Given the description of an element on the screen output the (x, y) to click on. 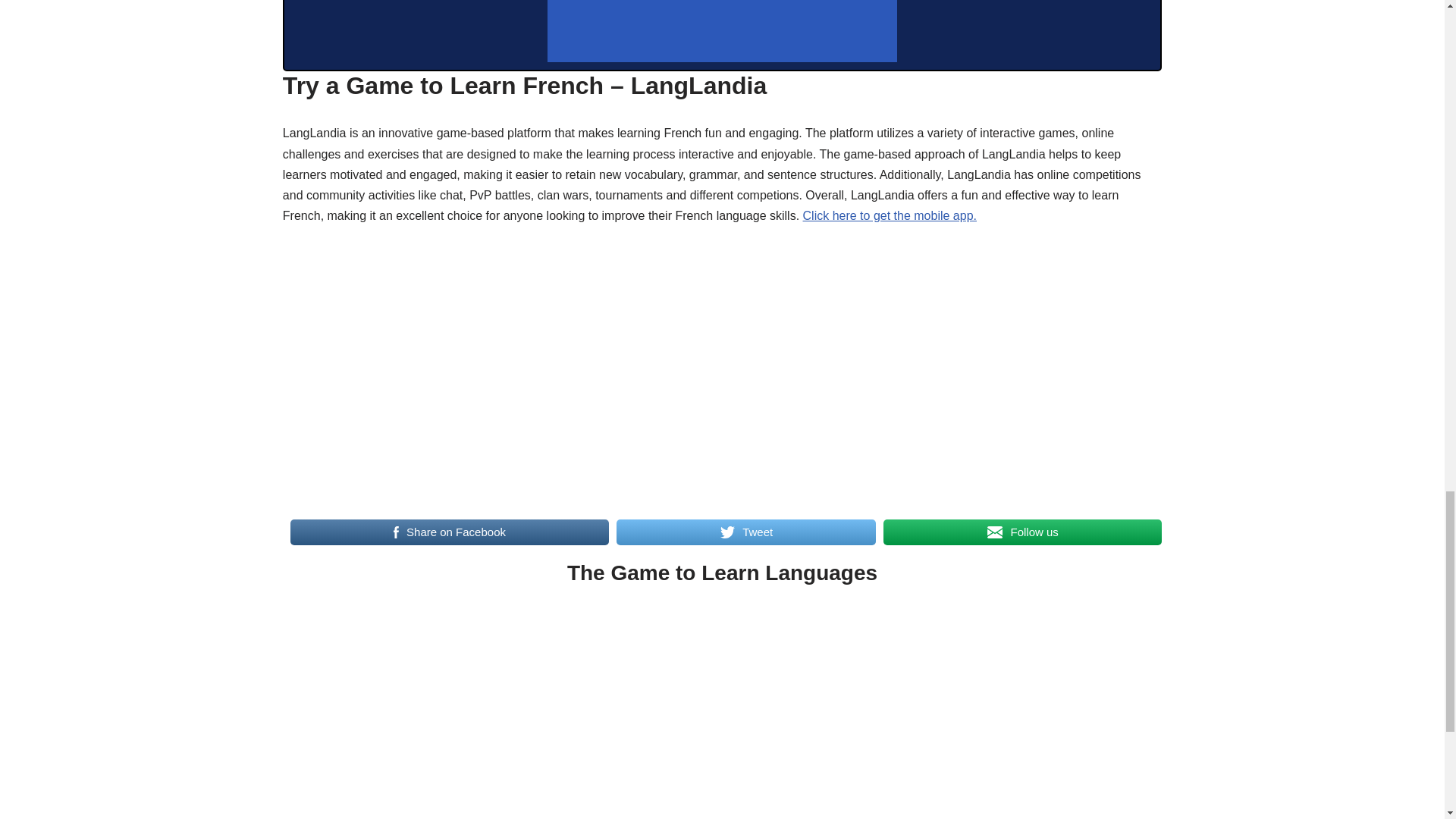
Share on Facebook (448, 532)
Tweet (745, 532)
Follow us (1022, 532)
YouTube video player (721, 367)
Click here to get the mobile app. (889, 215)
YouTube video player (721, 714)
